Given the description of an element on the screen output the (x, y) to click on. 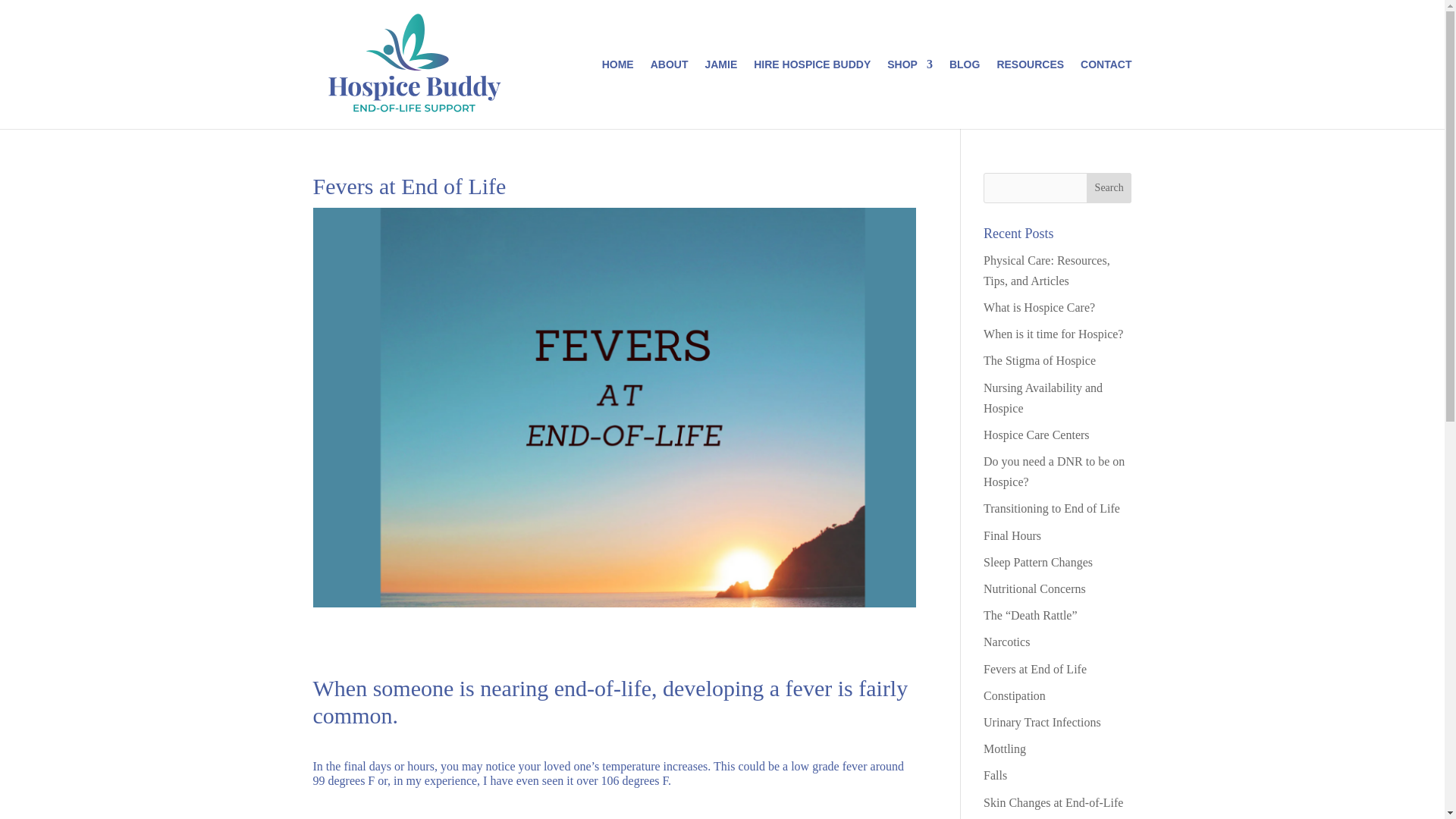
BLOG (964, 93)
What is Hospice Care? (1039, 307)
Physical Care: Resources, Tips, and Articles (1046, 270)
Search (1109, 187)
RESOURCES (1029, 93)
When is it time for Hospice? (1053, 333)
HOME (617, 93)
The Stigma of Hospice (1040, 359)
Nursing Availability and Hospice (1043, 397)
ABOUT (669, 93)
CONTACT (1105, 93)
Hospice Care Centers (1036, 434)
JAMIE (720, 93)
SHOP (909, 93)
HIRE HOSPICE BUDDY (812, 93)
